Given the description of an element on the screen output the (x, y) to click on. 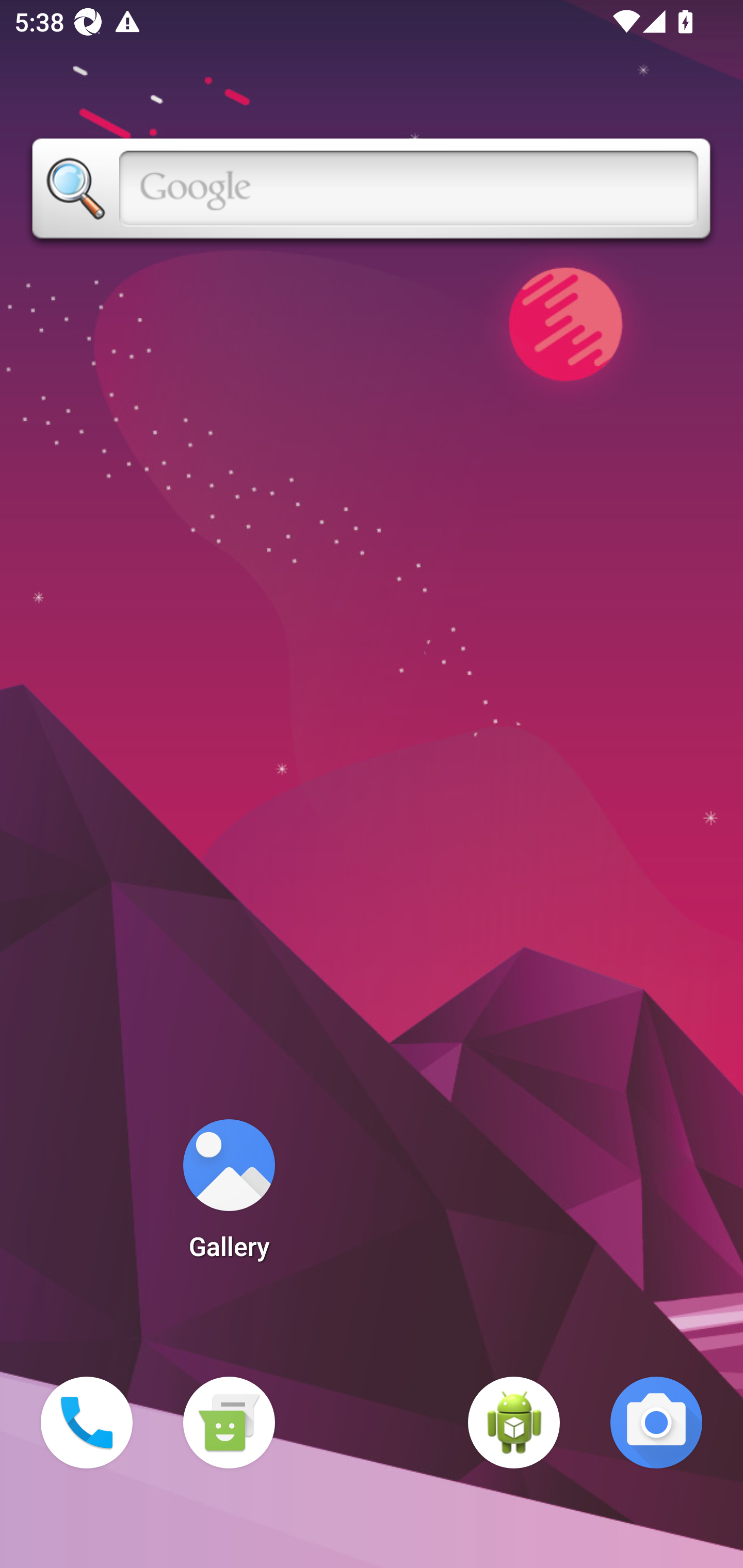
Gallery (228, 1195)
Phone (86, 1422)
Messaging (228, 1422)
WebView Browser Tester (513, 1422)
Camera (656, 1422)
